Given the description of an element on the screen output the (x, y) to click on. 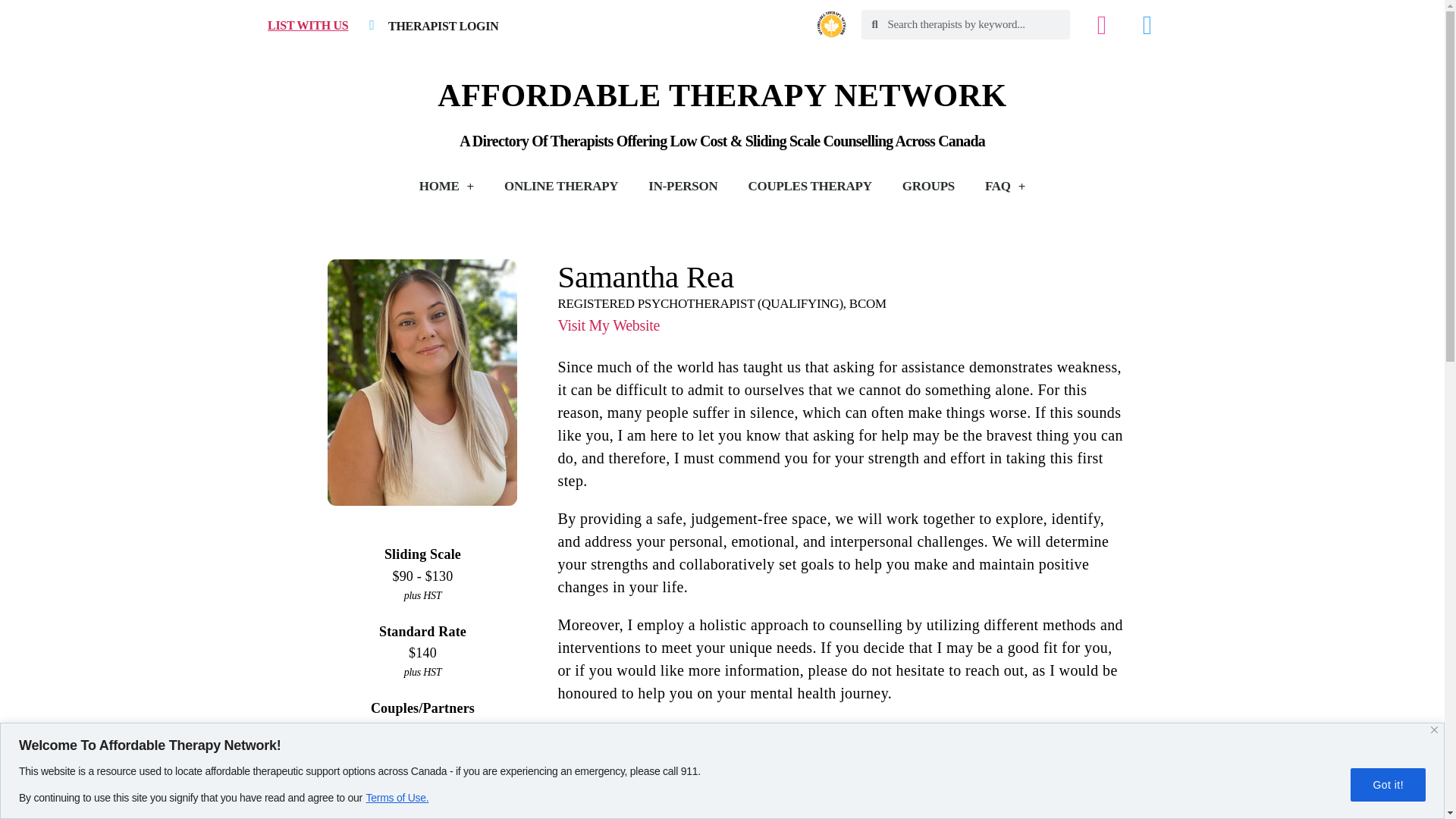
HOME (446, 186)
ONLINE THERAPY (561, 186)
COUPLES THERAPY (809, 186)
GROUPS (927, 186)
Terms of Use. (397, 796)
FAQ (1005, 186)
IN-PERSON (682, 186)
THERAPIST LOGIN (442, 26)
AFFORDABLE THERAPY NETWORK (722, 95)
Visit My Website (422, 789)
Got it! (1388, 783)
LIST WITH US (306, 24)
